Given the description of an element on the screen output the (x, y) to click on. 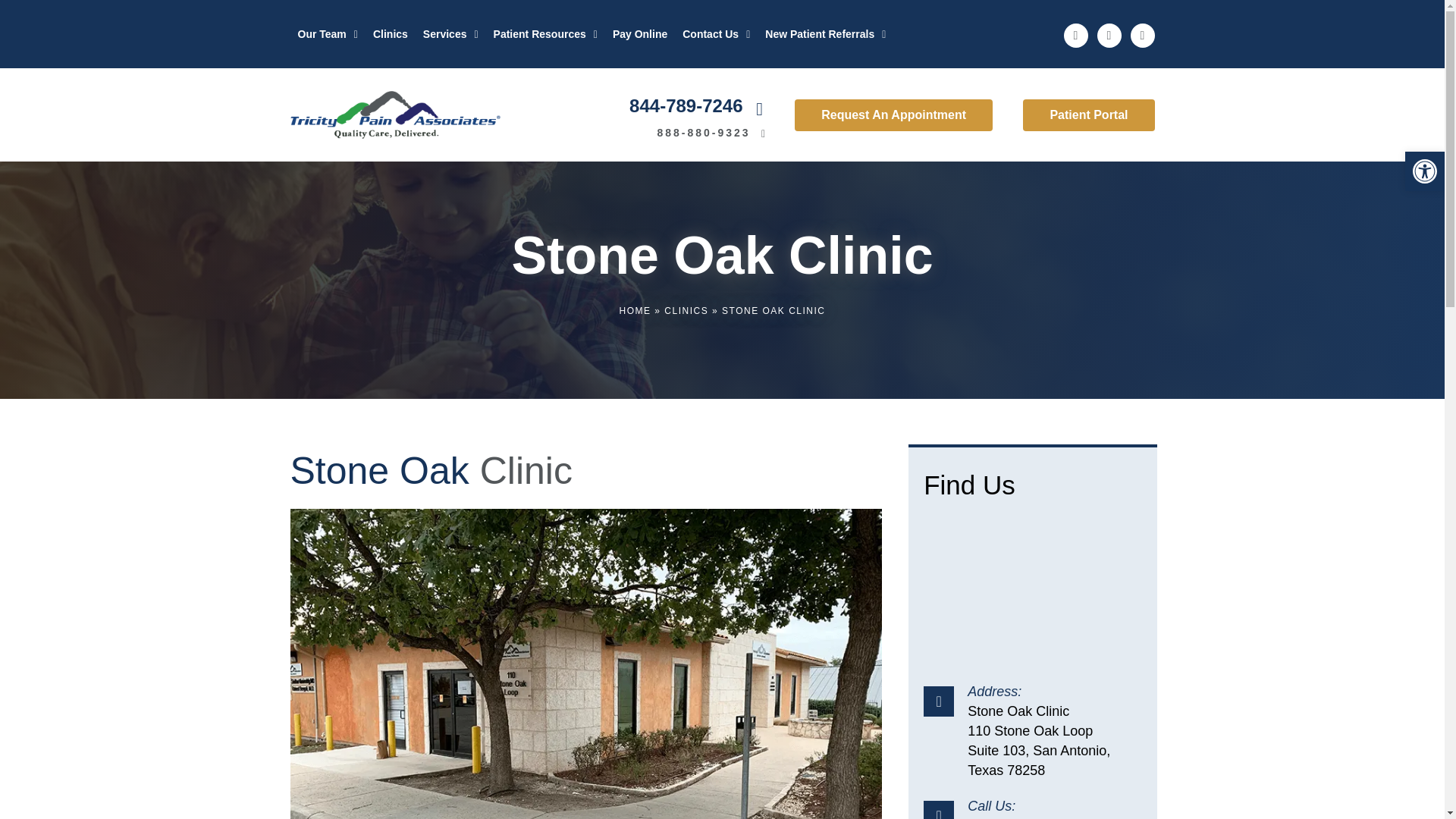
Our Team (327, 33)
Services (450, 33)
Accessibility Tools (1424, 170)
Clinics (685, 310)
Carrollton Clinic (1032, 590)
Clinics (390, 33)
Home (634, 310)
Tricity Pain Associates (394, 114)
